Given the description of an element on the screen output the (x, y) to click on. 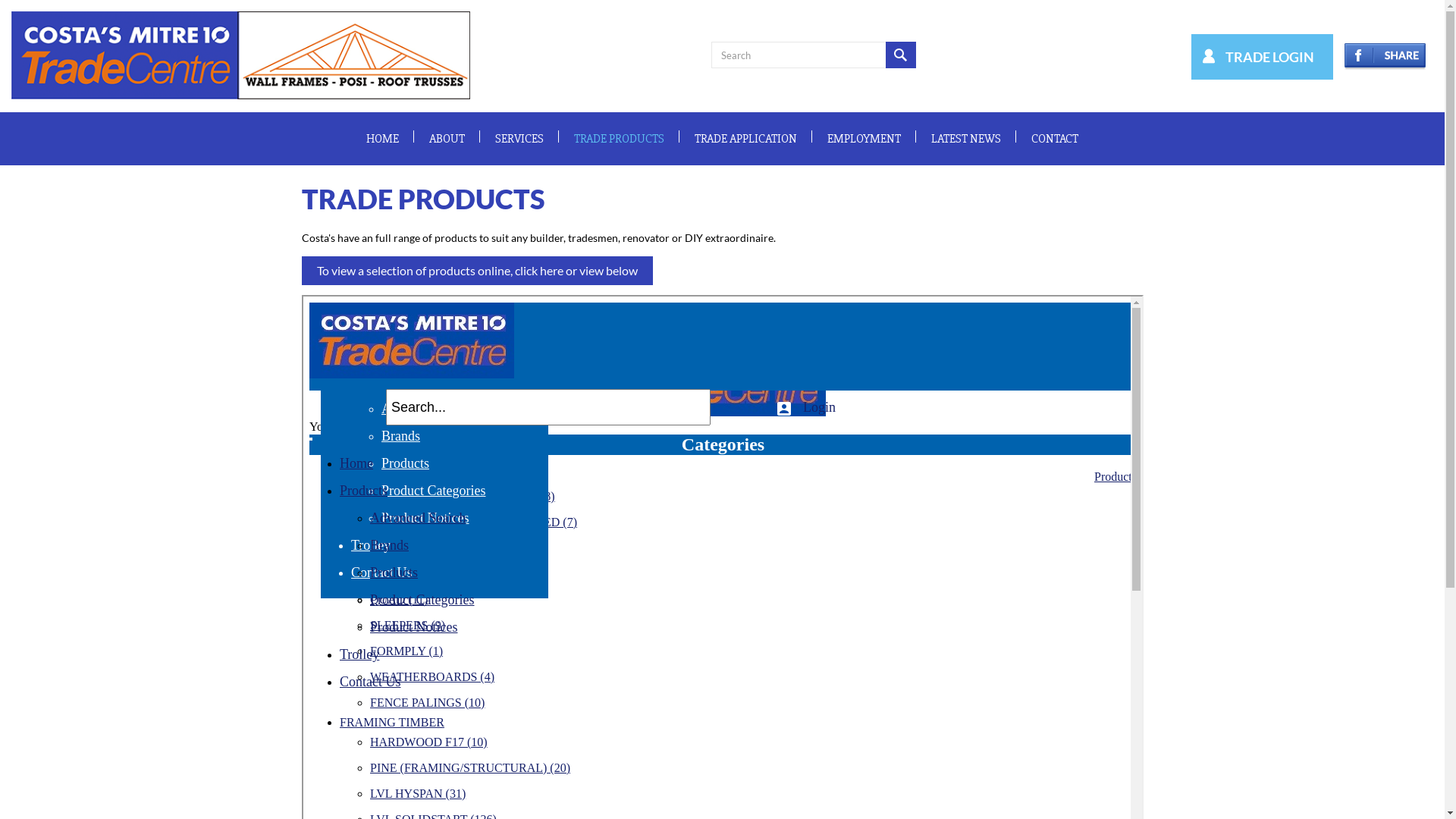
SERVICES Element type: text (519, 138)
LATEST NEWS Element type: text (966, 138)
EMPLOYMENT Element type: text (864, 138)
CONTACT Element type: text (1054, 138)
TRADE APPLICATION Element type: text (745, 138)
TRADE PRODUCTS Element type: text (618, 138)
HOME Element type: text (382, 138)
ABOUT Element type: text (447, 138)
TRADE LOGIN Element type: text (1254, 56)
